Given the description of an element on the screen output the (x, y) to click on. 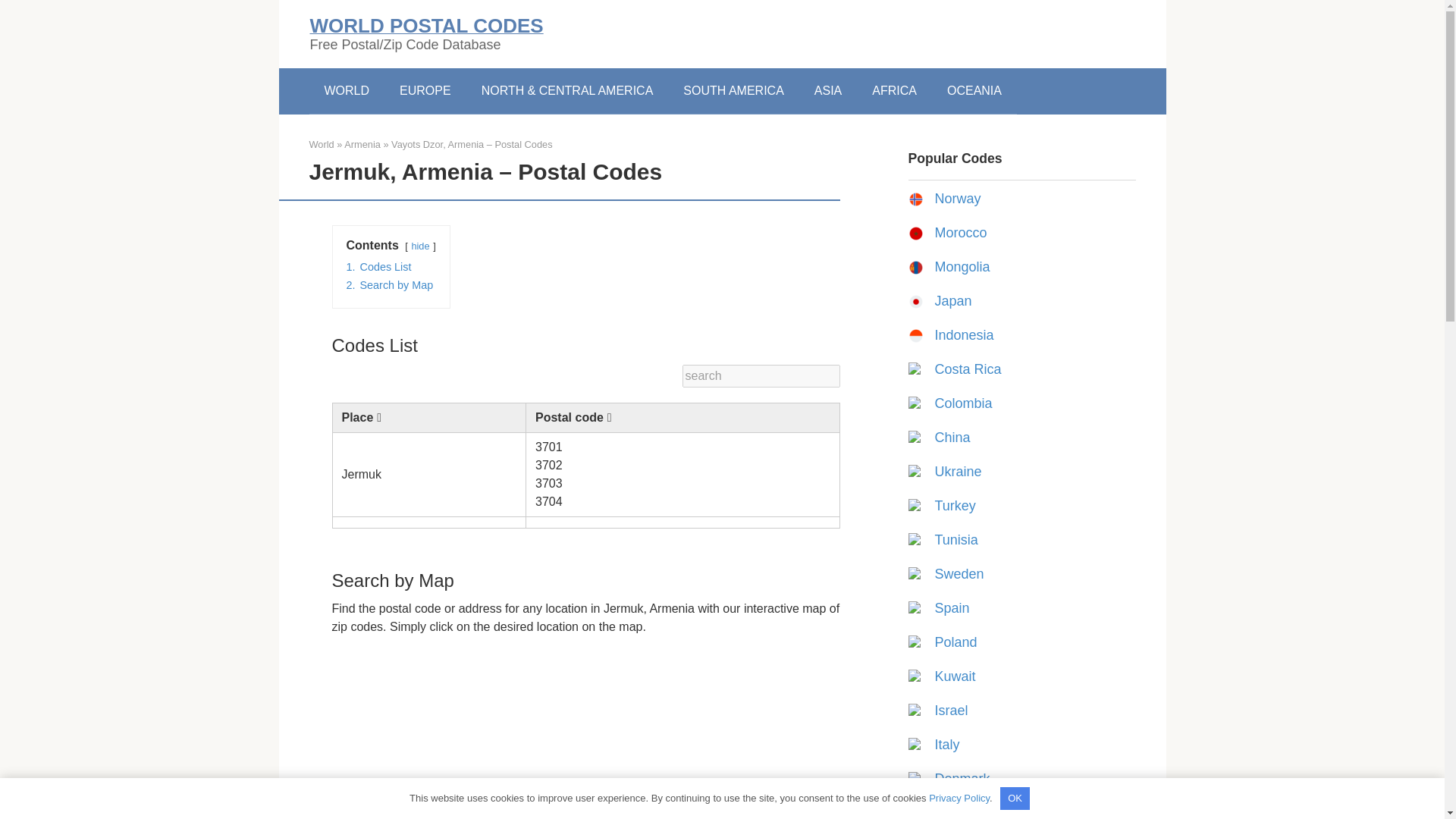
Ukraine (957, 471)
Japan (952, 300)
WORLD (346, 90)
WORLD POSTAL CODES (425, 25)
Tunisia (955, 539)
Armenia (361, 143)
Mongolia (962, 266)
Sweden (959, 573)
hide (419, 245)
